Given the description of an element on the screen output the (x, y) to click on. 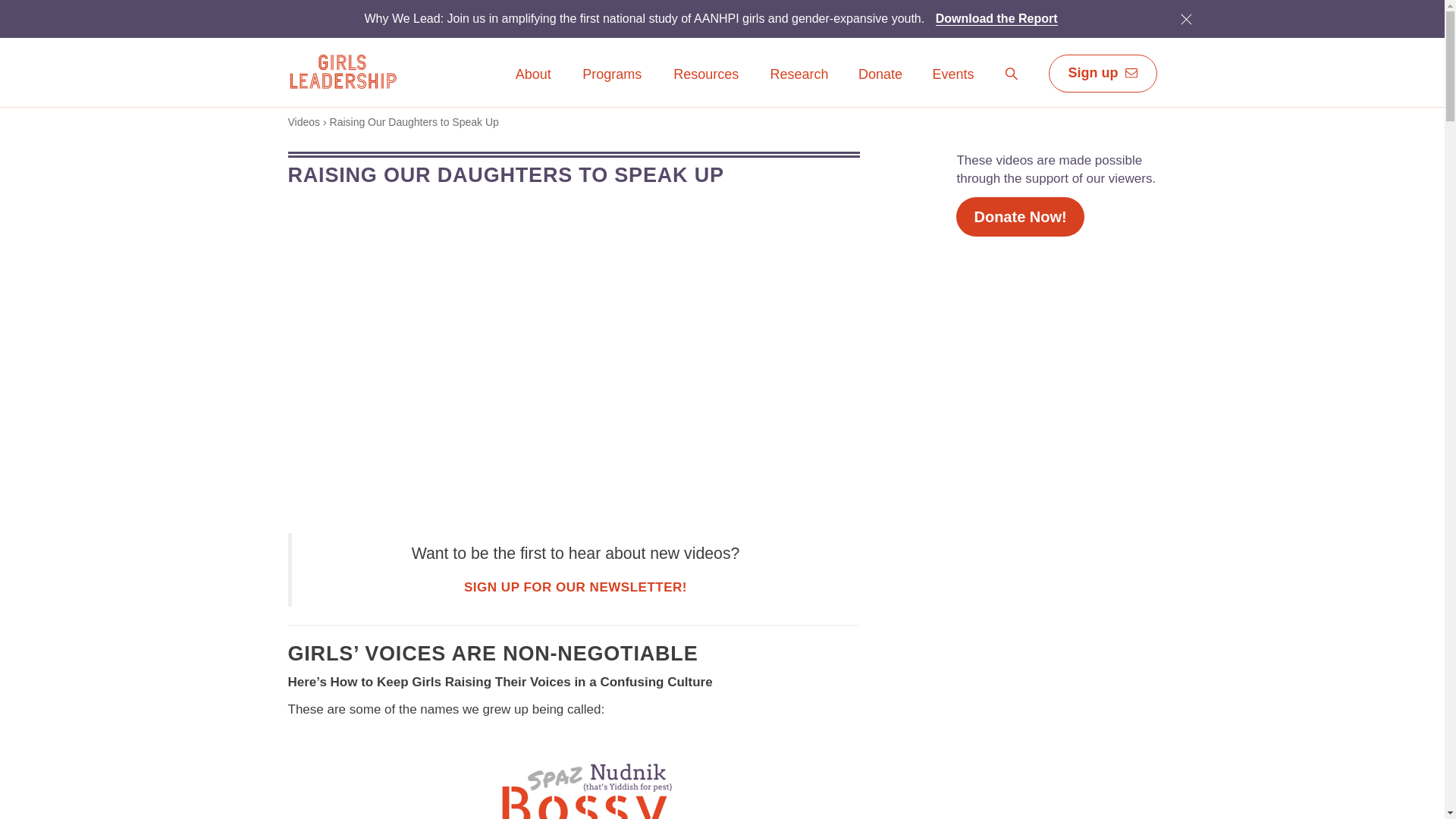
Search (1012, 74)
SIGN UP FOR OUR NEWSLETTER! (575, 586)
Research (798, 75)
Resources (706, 75)
Programs (611, 84)
Research (798, 84)
Videos (304, 121)
About (533, 75)
A6F524C7-72F2-47B1-896C-2077AF8665D0 (1183, 18)
Donate (879, 75)
Programs (611, 75)
Download the Report (997, 18)
About (533, 84)
SIGN UP FOR OUR NEWSLETTER! (575, 586)
Resources (706, 84)
